Given the description of an element on the screen output the (x, y) to click on. 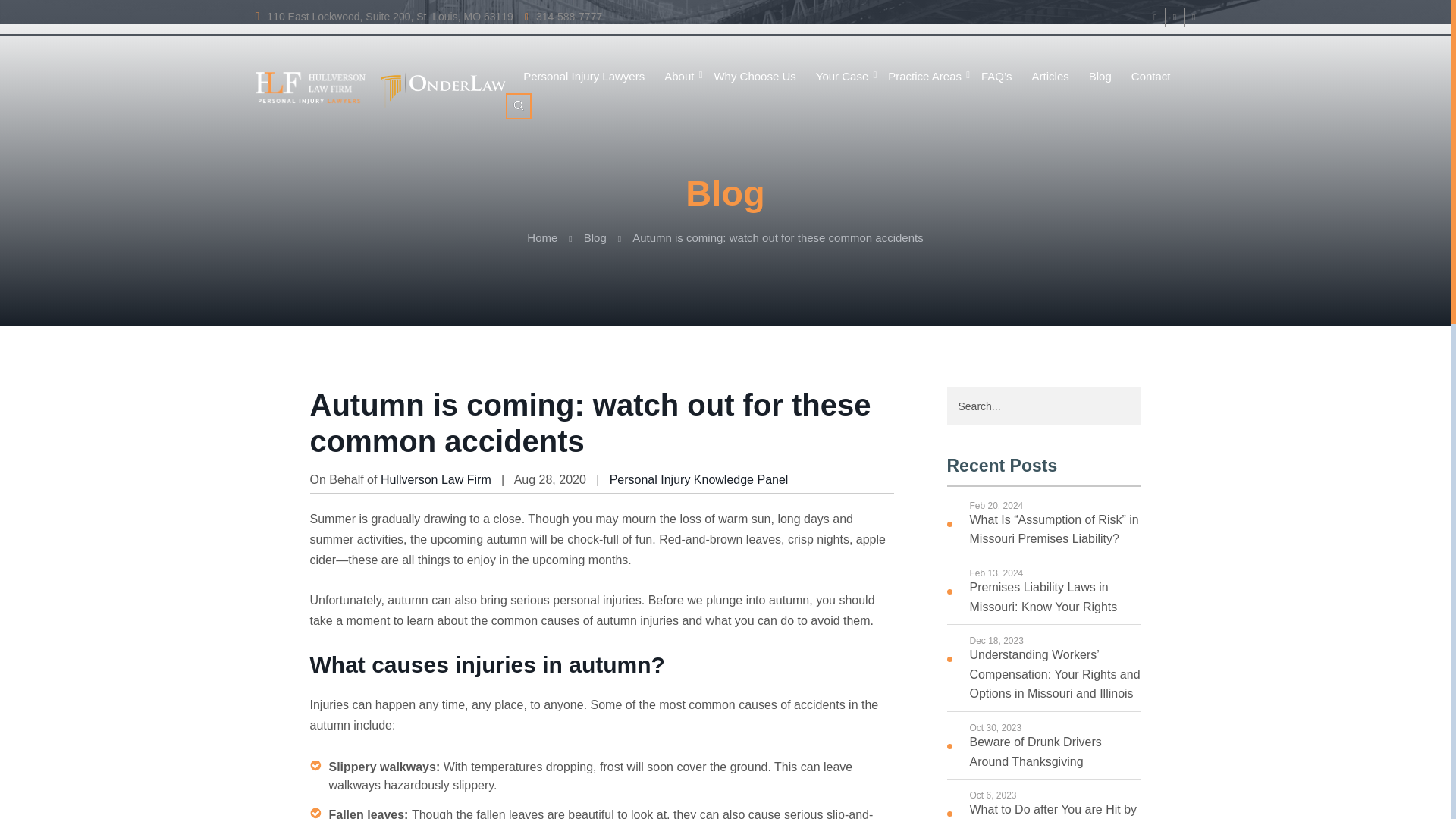
About (678, 76)
Practice Areas (924, 76)
Why Choose Us (754, 76)
Go to Blog. (595, 237)
Personal Injury Lawyers (583, 76)
314-588-7777 (563, 16)
Go to Hullverson Law Firm. (542, 237)
Your Case (841, 76)
